Given the description of an element on the screen output the (x, y) to click on. 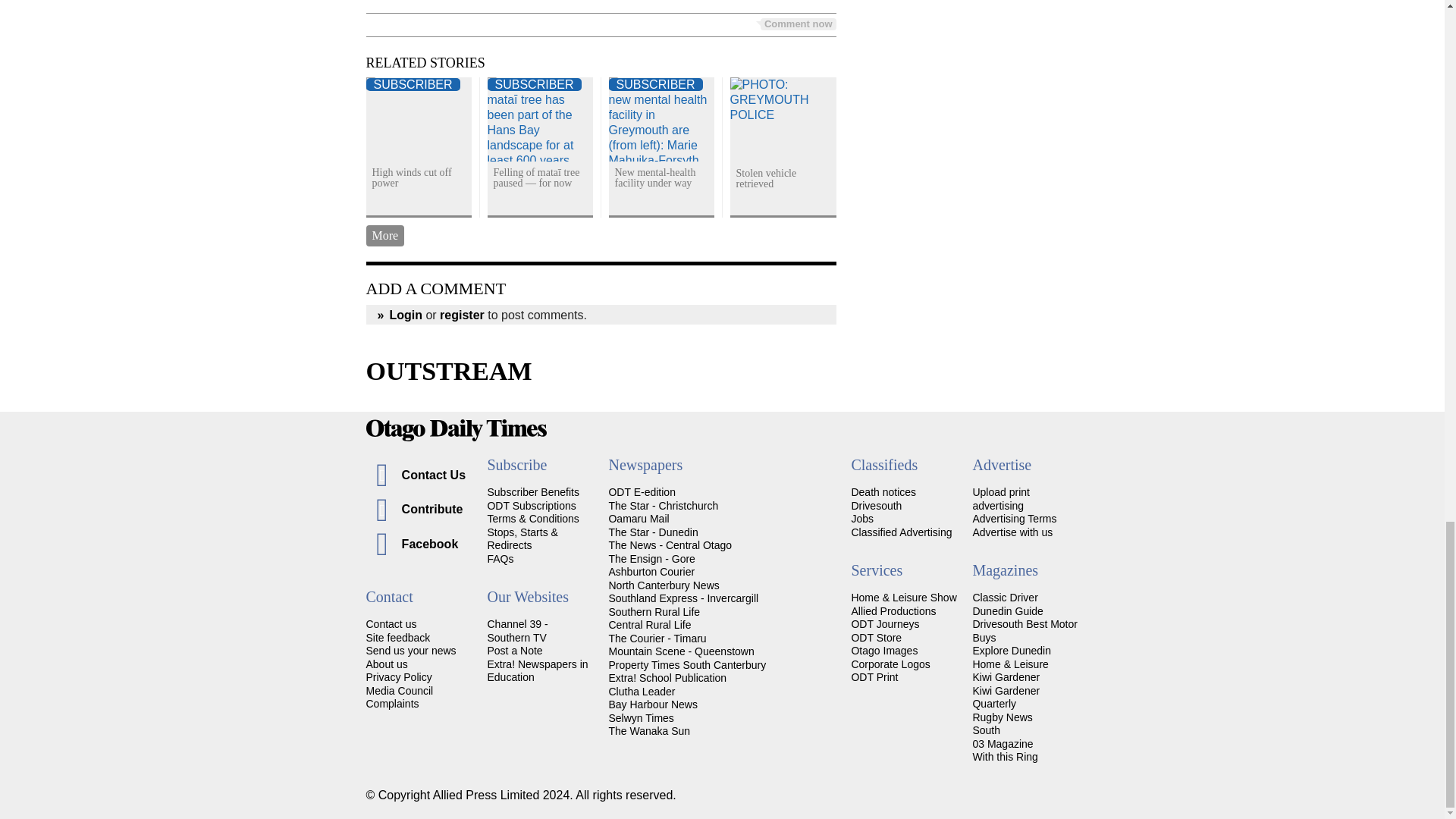
Ways to subscribe to the Otago Daily Times (530, 505)
Get the ODT delivered right to you! (532, 491)
Get in touch (390, 623)
Let us know what you think (397, 637)
Home (721, 430)
Send us your news and photos. (410, 650)
